Given the description of an element on the screen output the (x, y) to click on. 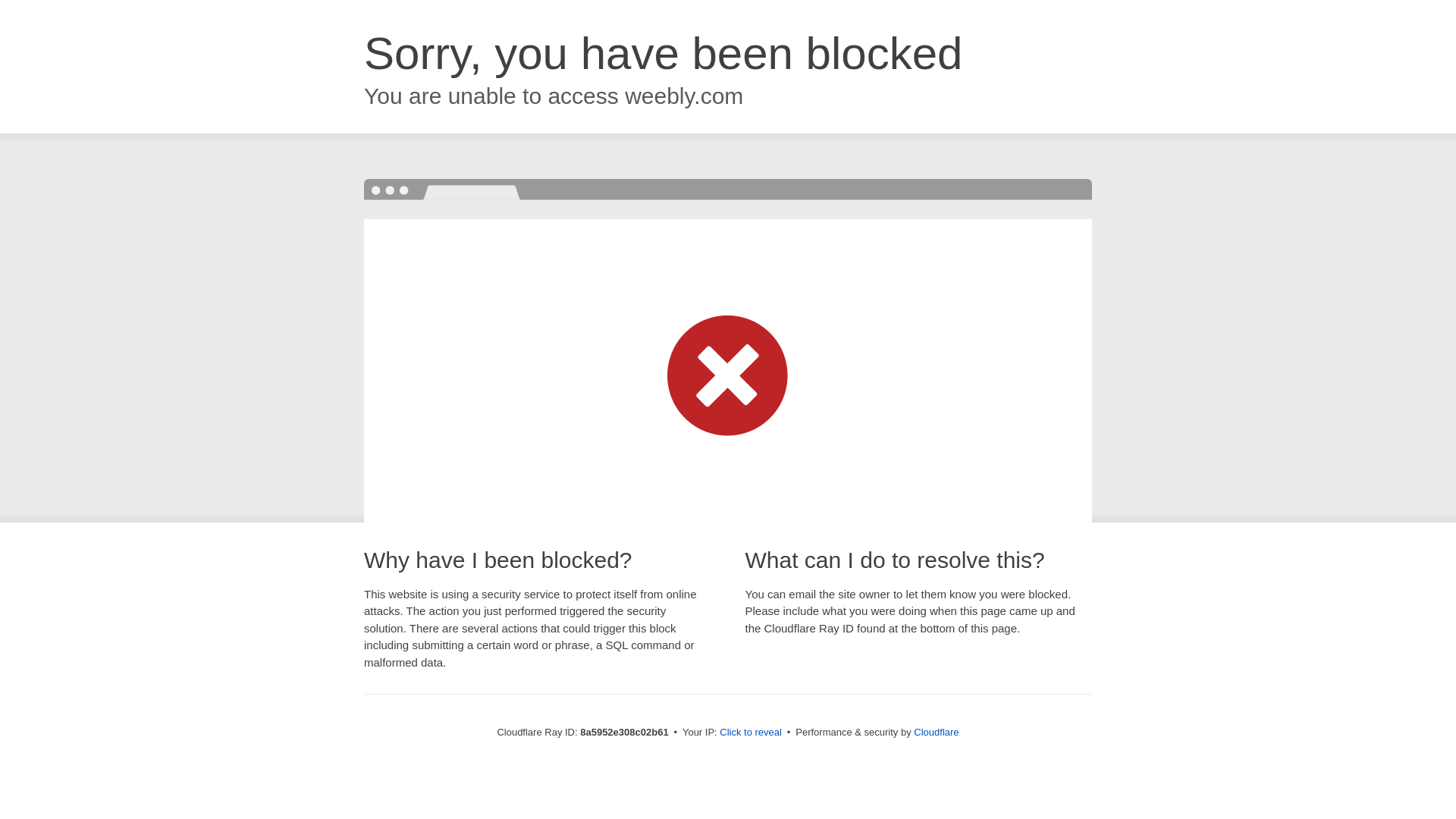
Cloudflare (936, 731)
Click to reveal (750, 732)
